Given the description of an element on the screen output the (x, y) to click on. 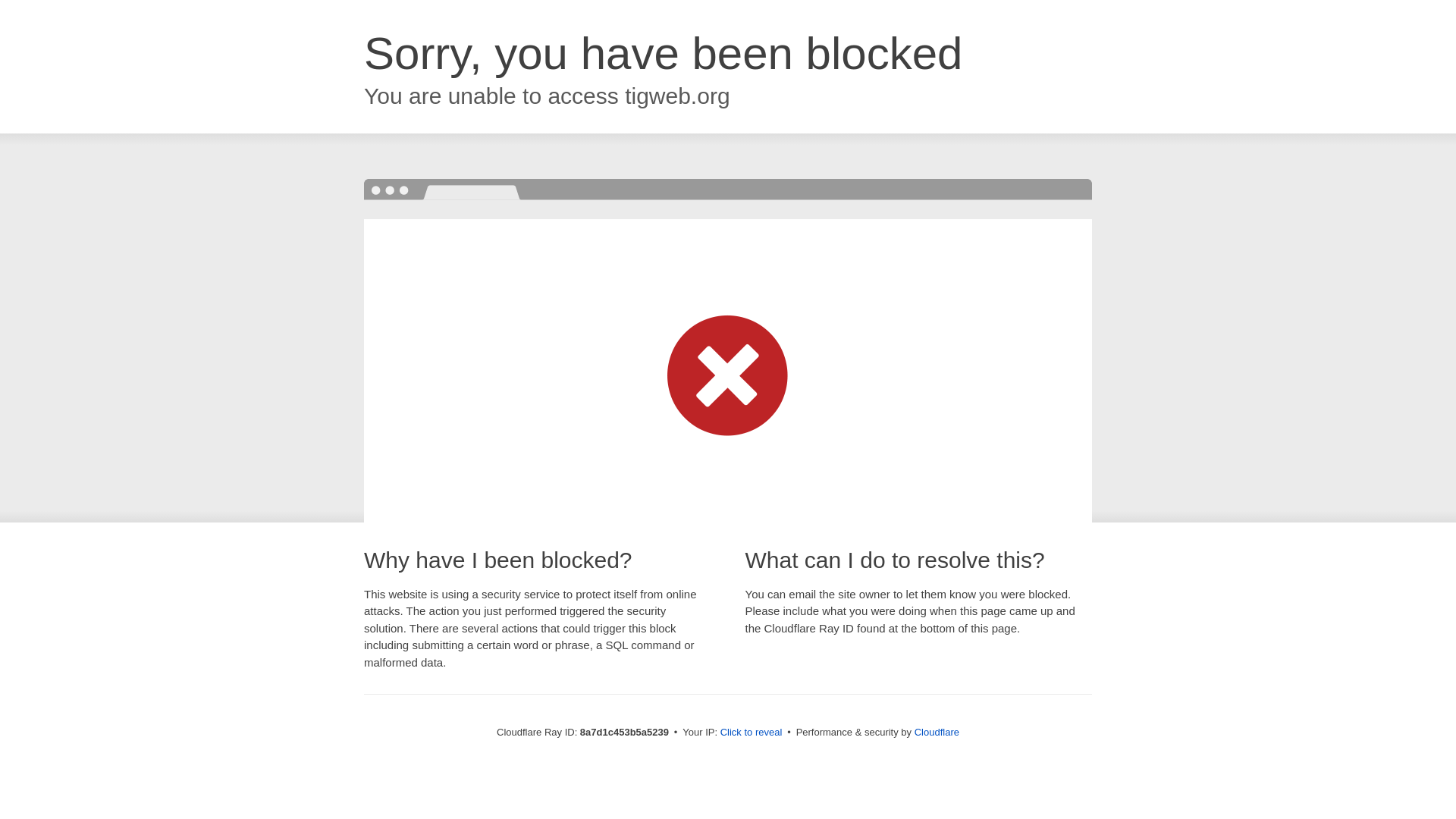
Click to reveal (751, 732)
Cloudflare (936, 731)
